Given the description of an element on the screen output the (x, y) to click on. 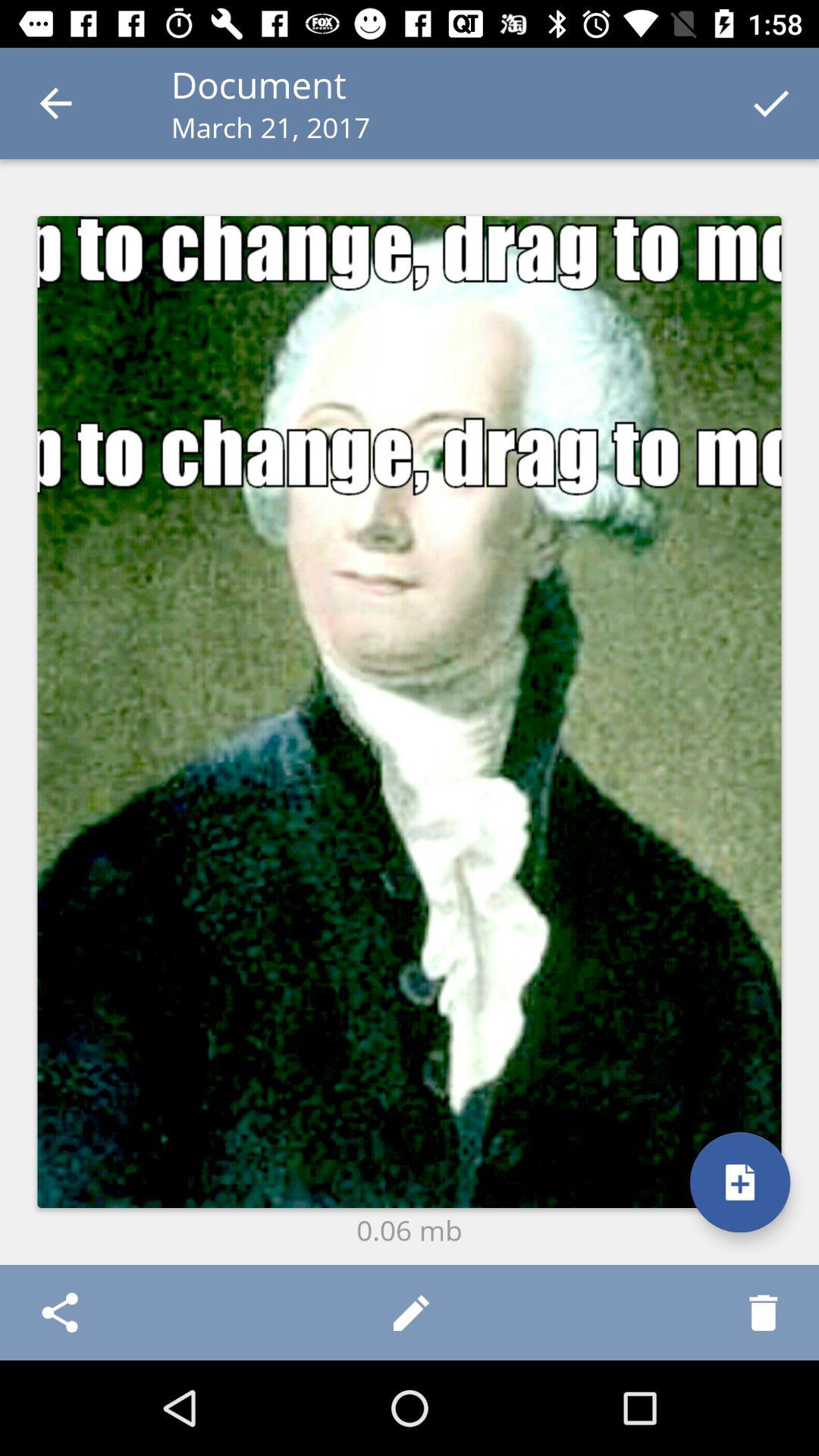
click the icon above the 0.06 mb (409, 712)
